Given the description of an element on the screen output the (x, y) to click on. 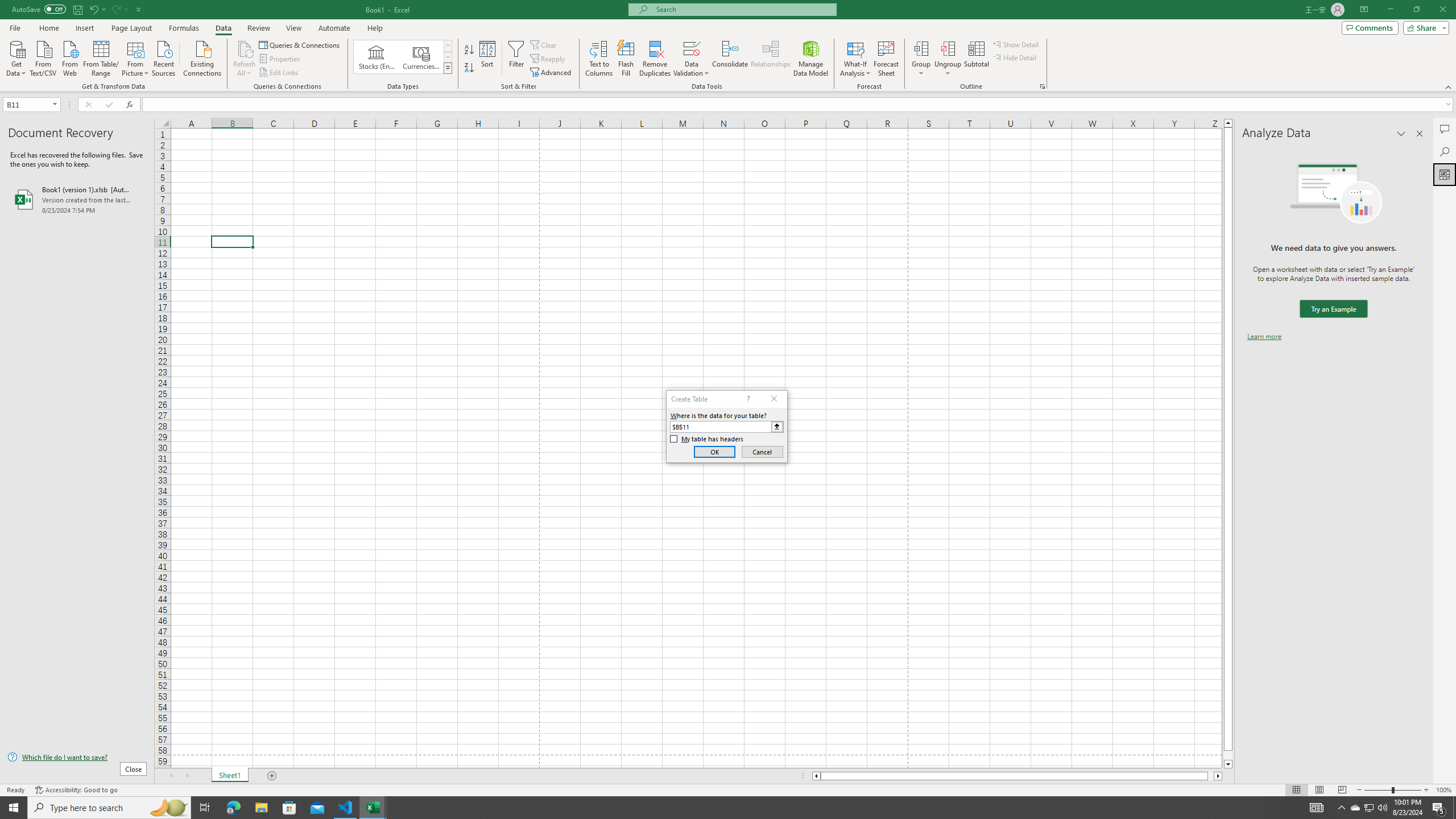
AutomationID: ConvertToLinkedEntity (403, 56)
Review (258, 28)
Quick Access Toolbar (77, 9)
Sort Z to A (469, 67)
Analyze Data (1444, 173)
Ungroup... (947, 48)
Edit Links (279, 72)
Reapply (548, 58)
Formulas (184, 28)
We need data to give you answers. Try an Example (1333, 308)
Refresh All (244, 58)
Text to Columns... (598, 58)
